Given the description of an element on the screen output the (x, y) to click on. 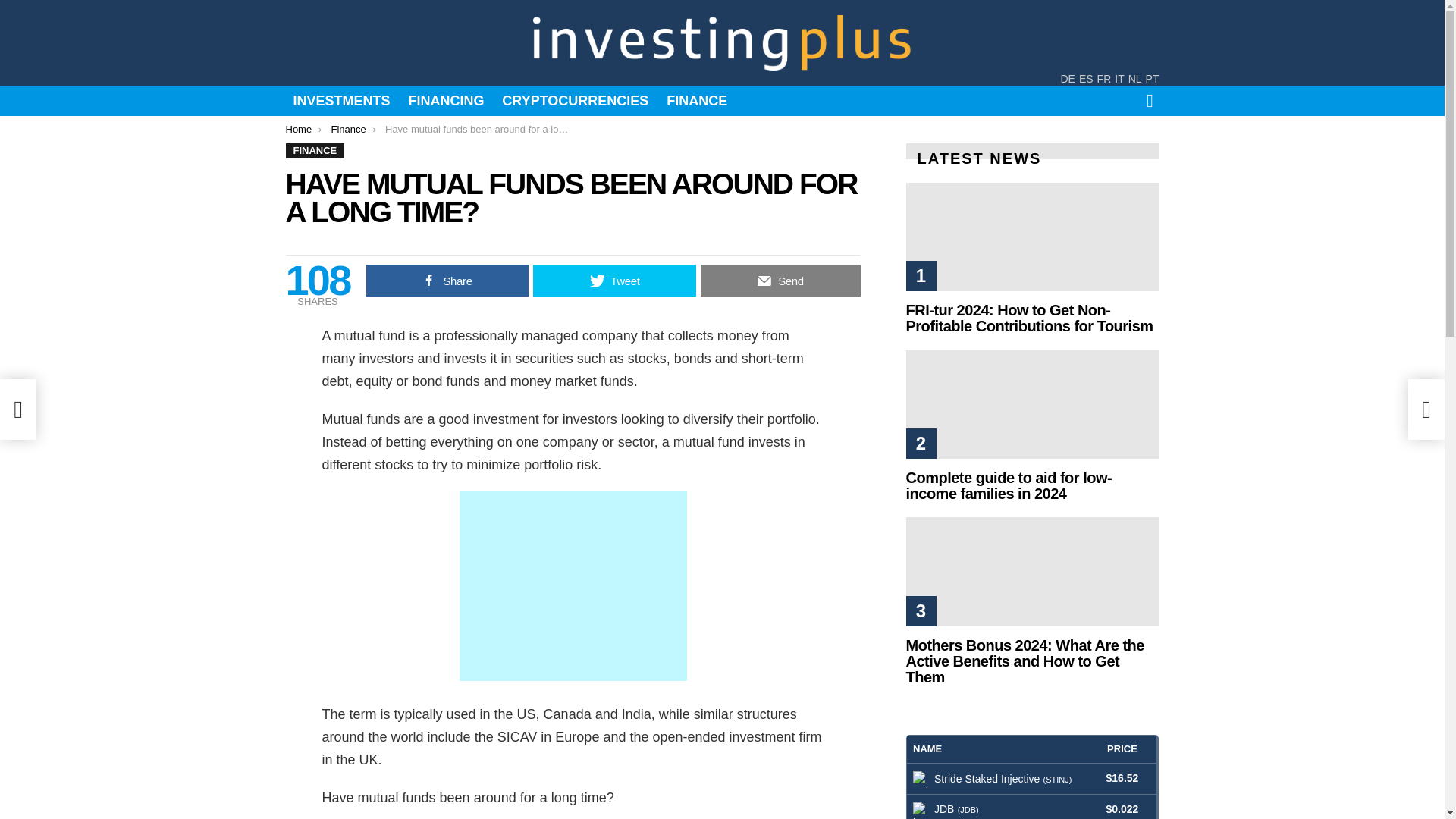
FR (1104, 79)
FINANCING (446, 100)
Complete guide to aid for low-income families in 2024 (1008, 485)
Send (780, 280)
Finance (347, 129)
PT (1151, 79)
Tweet (613, 280)
CRYPTOCURRENCIES (575, 100)
INVESTMENTS (341, 100)
